Given the description of an element on the screen output the (x, y) to click on. 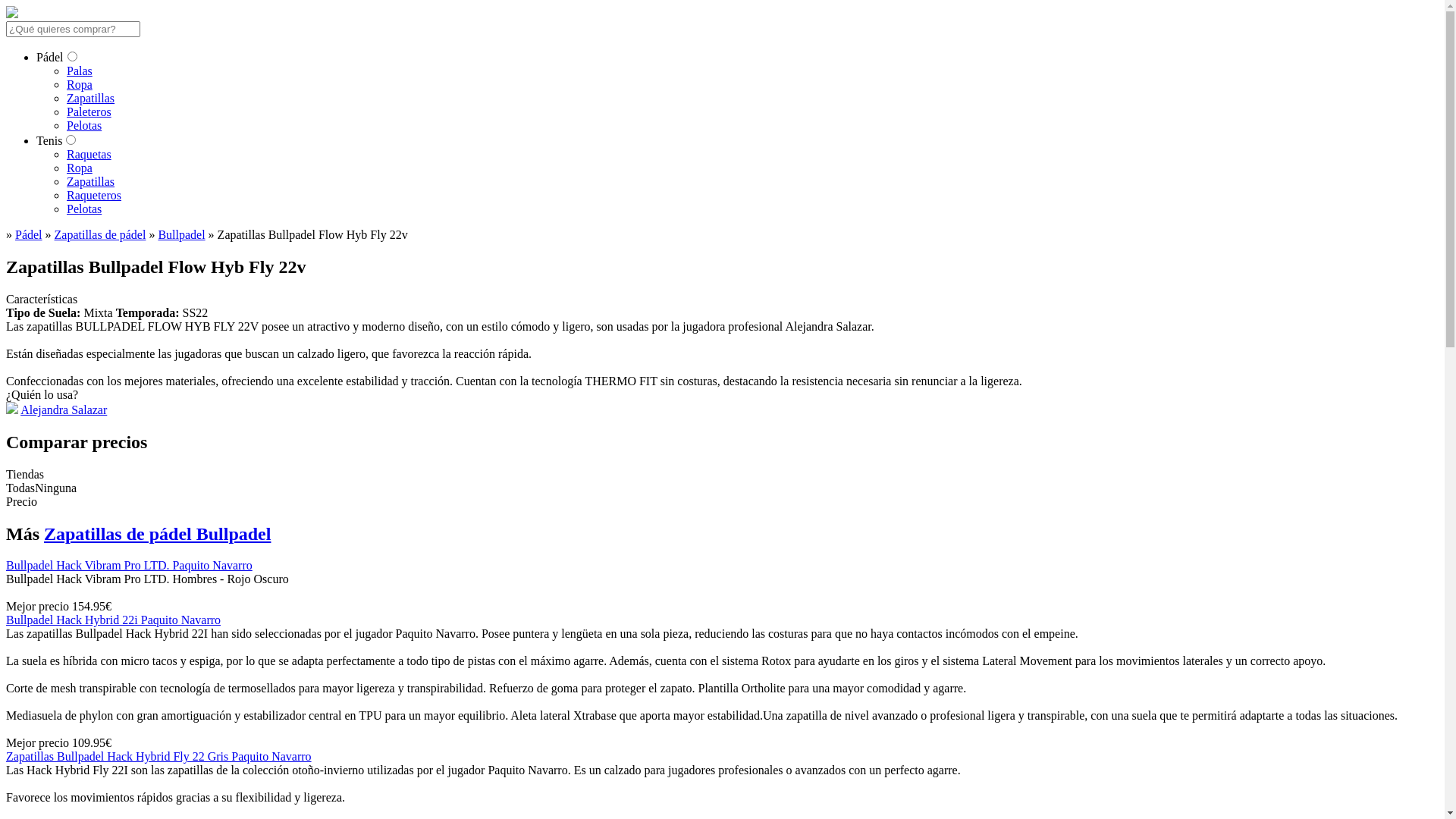
Bullpadel Hack Vibram Pro LTD. Paquito Navarro Element type: text (129, 564)
Zapatillas Element type: text (90, 97)
Ropa Element type: text (79, 84)
Ropa Element type: text (79, 167)
Alejandra Salazar Element type: text (63, 409)
Palas Element type: text (79, 70)
Pelotas Element type: text (83, 125)
Pelotas Element type: text (83, 208)
Raquetas Element type: text (88, 153)
Paleteros Element type: text (88, 111)
Zapatillas Element type: text (90, 181)
Bullpadel Hack Hybrid 22i Paquito Navarro Element type: text (113, 619)
Ninguna Element type: text (55, 487)
Raqueteros Element type: text (93, 194)
Tenis Element type: text (49, 140)
Zapatillas Bullpadel Hack Hybrid Fly 22 Gris Paquito Navarro Element type: text (158, 755)
Todas Element type: text (20, 487)
Bullpadel Element type: text (180, 234)
